Given the description of an element on the screen output the (x, y) to click on. 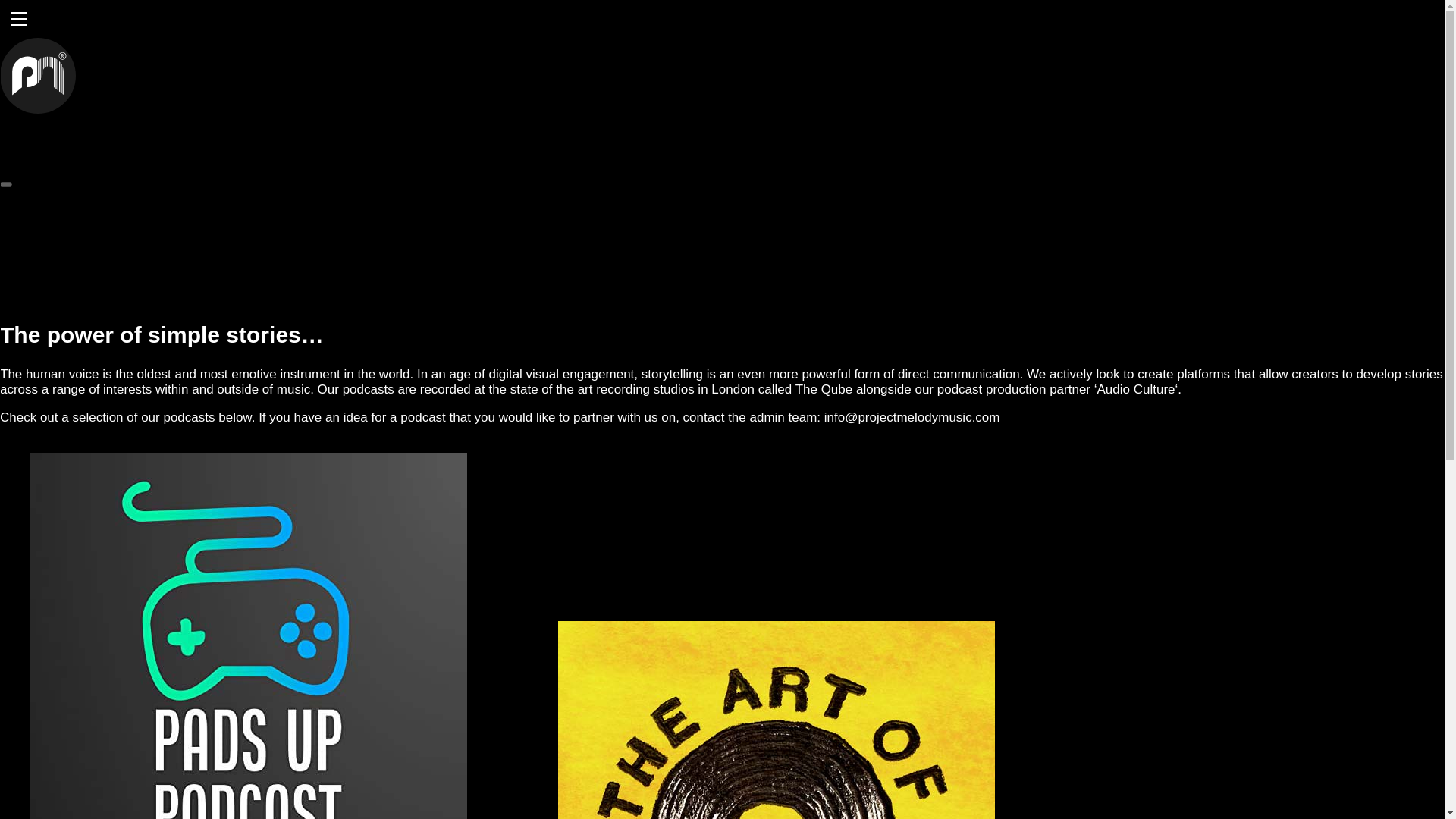
Audio Culture (1135, 389)
The Qube (823, 389)
